Given the description of an element on the screen output the (x, y) to click on. 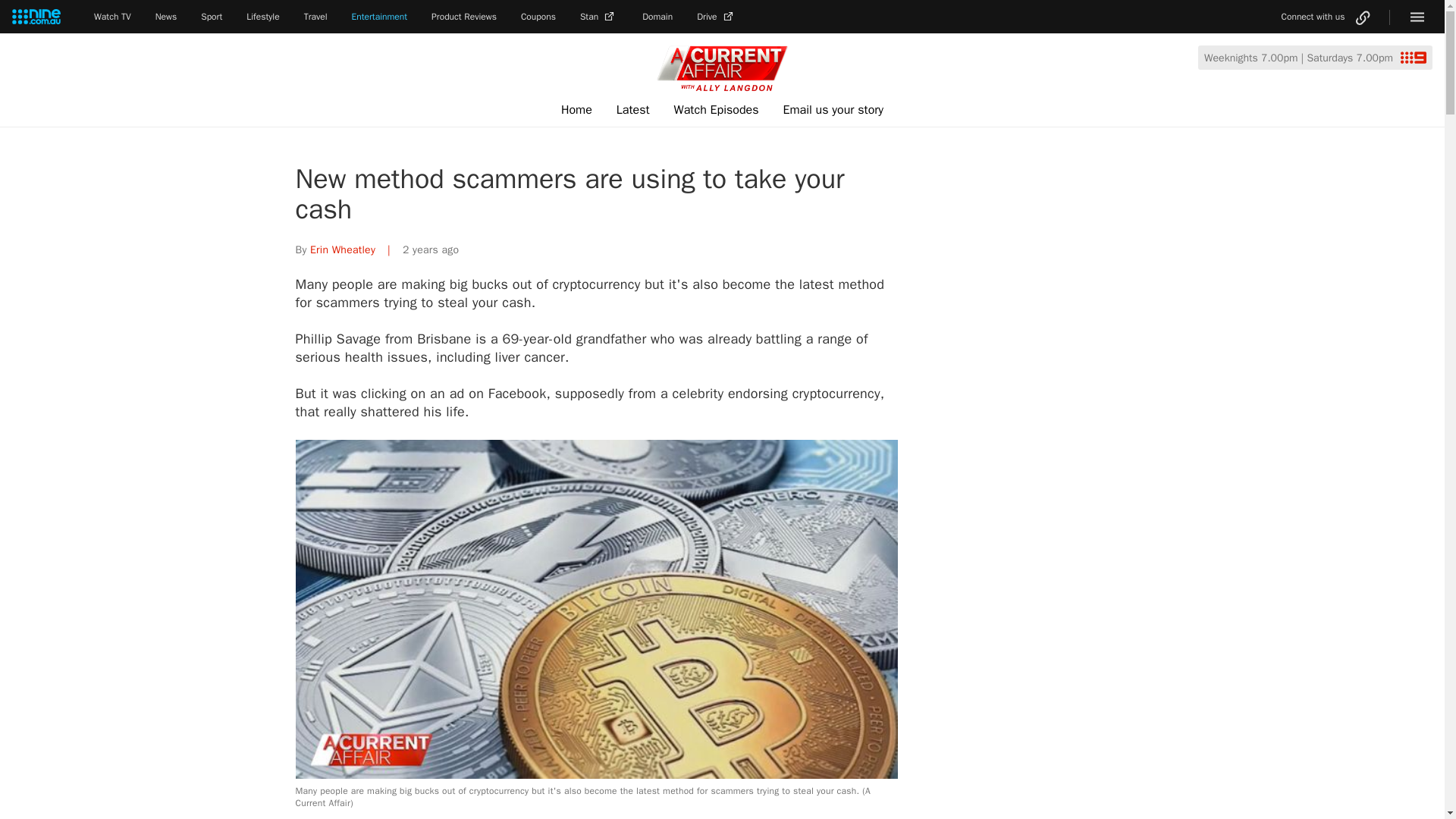
Erin Wheatley (342, 249)
Coupons (538, 16)
Watch Episodes (716, 109)
Watch TV (112, 16)
Email us your story (832, 109)
Drive (716, 16)
Product Reviews (463, 16)
Latest (633, 109)
Domain (657, 16)
Stan (598, 16)
